Given the description of an element on the screen output the (x, y) to click on. 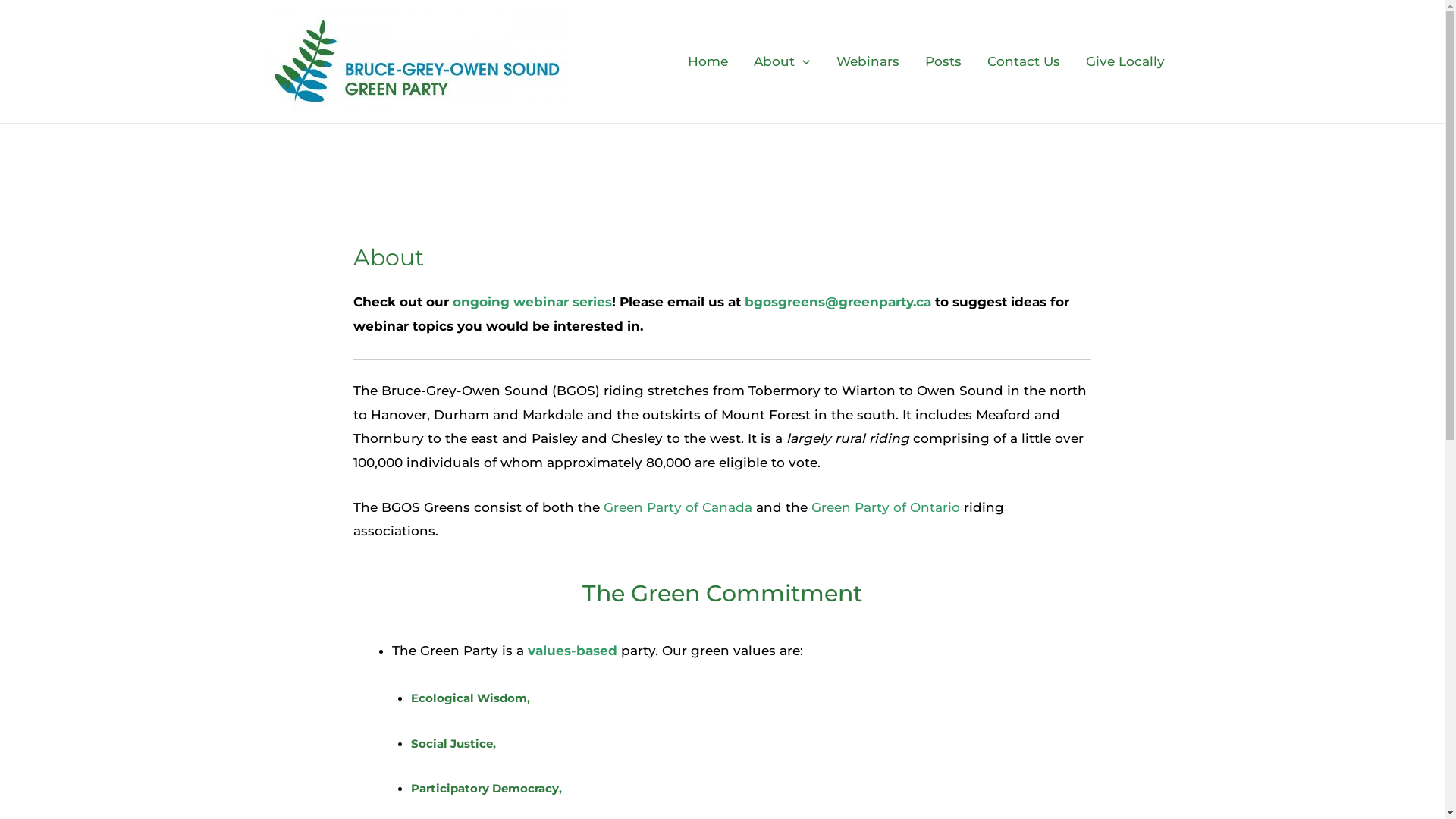
Webinars Element type: text (867, 60)
Contact Us Element type: text (1022, 60)
Home Element type: text (707, 60)
Green Party of Ontario Element type: text (885, 506)
Green Party of Canada Element type: text (677, 506)
Posts Element type: text (942, 60)
About Element type: text (781, 60)
ongoing webinar series Element type: text (531, 301)
bgosgreens@greenparty.ca Element type: text (837, 301)
Give Locally Element type: text (1124, 60)
